Given the description of an element on the screen output the (x, y) to click on. 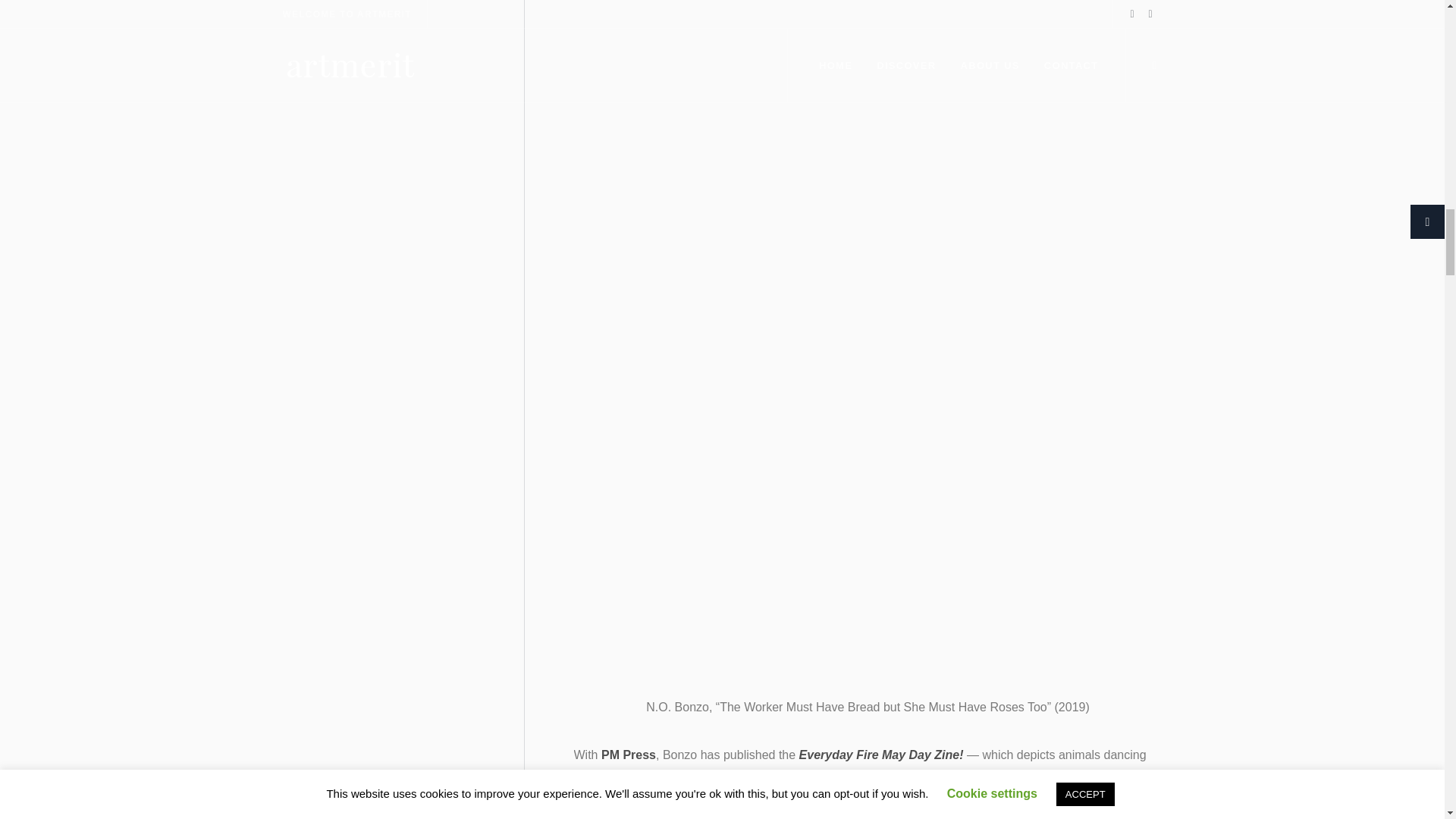
reissues (1034, 775)
antifascist coloring book (856, 775)
PM Press (628, 754)
Everyday Fire May Day Zine! (881, 754)
